Given the description of an element on the screen output the (x, y) to click on. 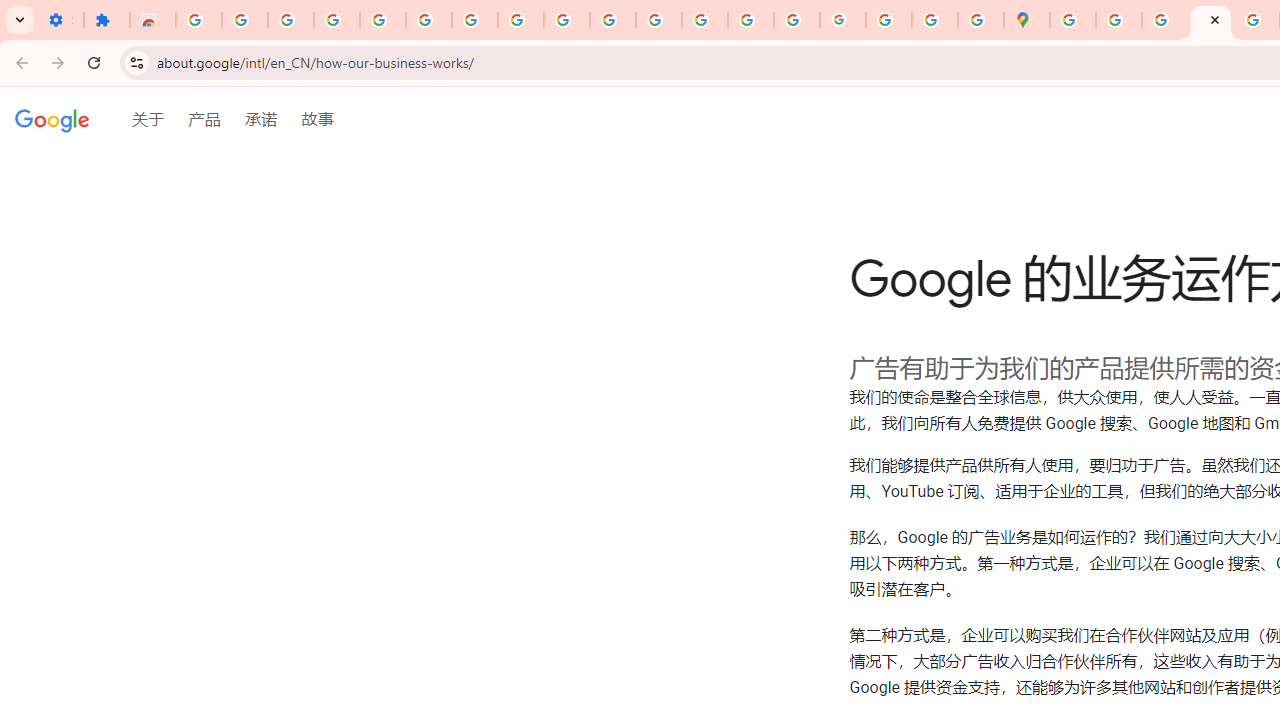
Create your Google Account (1164, 20)
Sign in - Google Accounts (428, 20)
YouTube (567, 20)
